Given the description of an element on the screen output the (x, y) to click on. 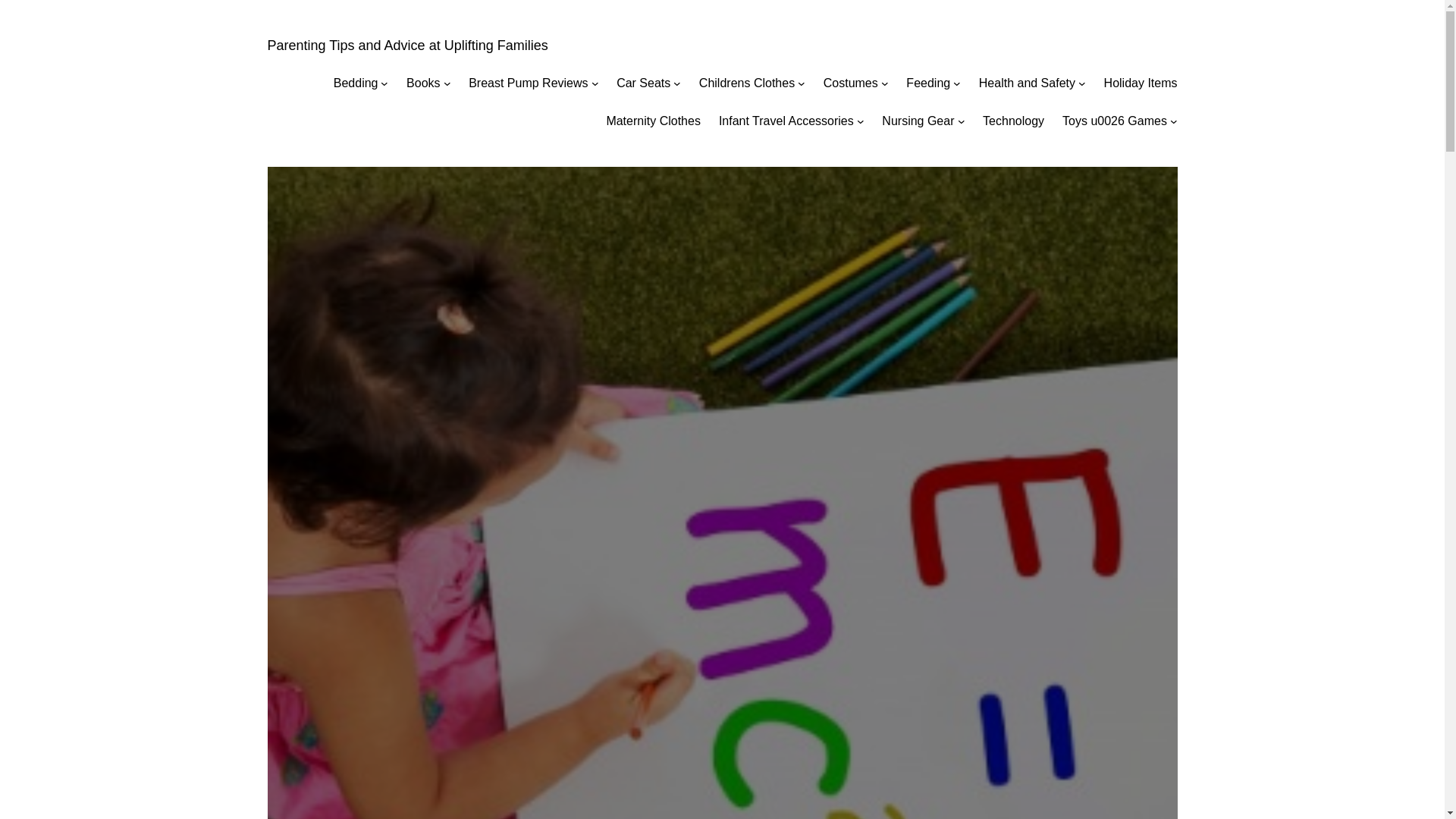
Parenting Tips and Advice at Uplifting Families (406, 45)
Feeding (927, 83)
Health and Safety (1026, 83)
Costumes (850, 83)
Breast Pump Reviews (528, 83)
Childrens Clothes (746, 83)
Bedding (355, 83)
Car Seats (642, 83)
Books (422, 83)
